Given the description of an element on the screen output the (x, y) to click on. 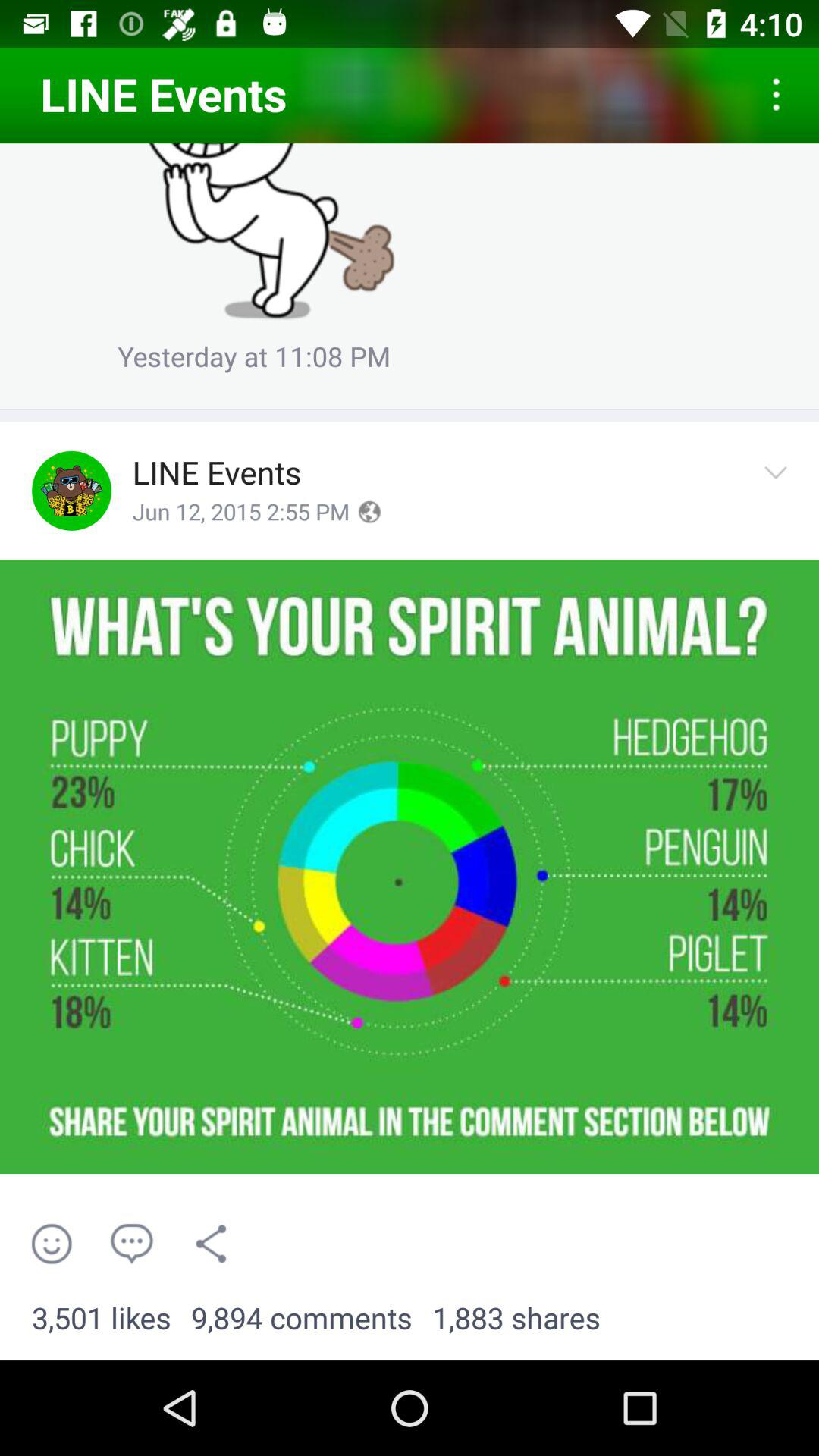
tap the item above 3,501 likes (51, 1243)
